Given the description of an element on the screen output the (x, y) to click on. 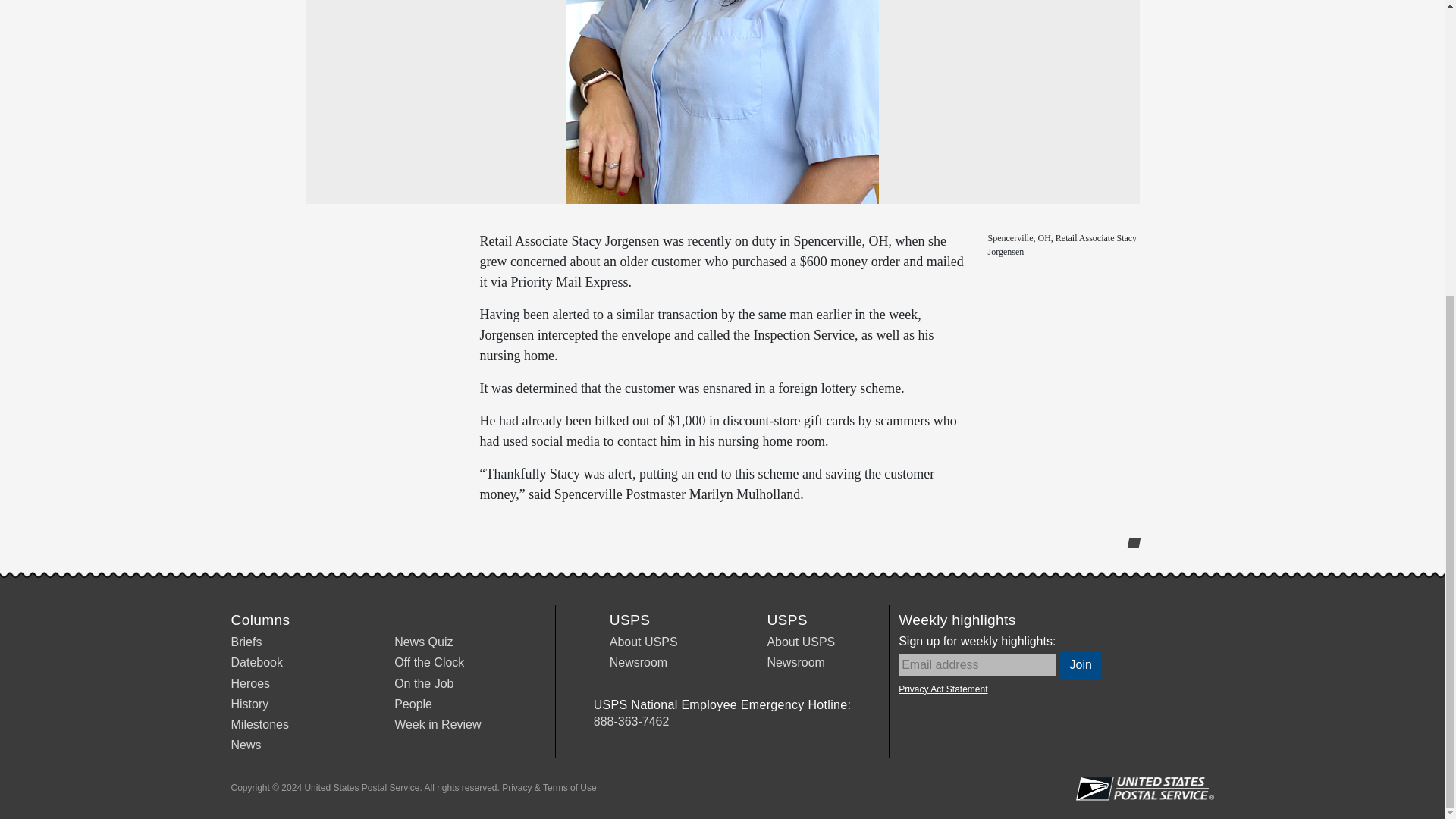
News (245, 744)
Briefs (246, 641)
On the Job (423, 683)
Milestones (259, 724)
People (413, 703)
News Quiz (423, 641)
About USPS (644, 641)
Datebook (256, 662)
Privacy Act Statement (942, 688)
Heroes (249, 683)
Join (1080, 664)
History (248, 703)
About USPS (800, 641)
Newsroom (795, 662)
Join (1080, 664)
